Given the description of an element on the screen output the (x, y) to click on. 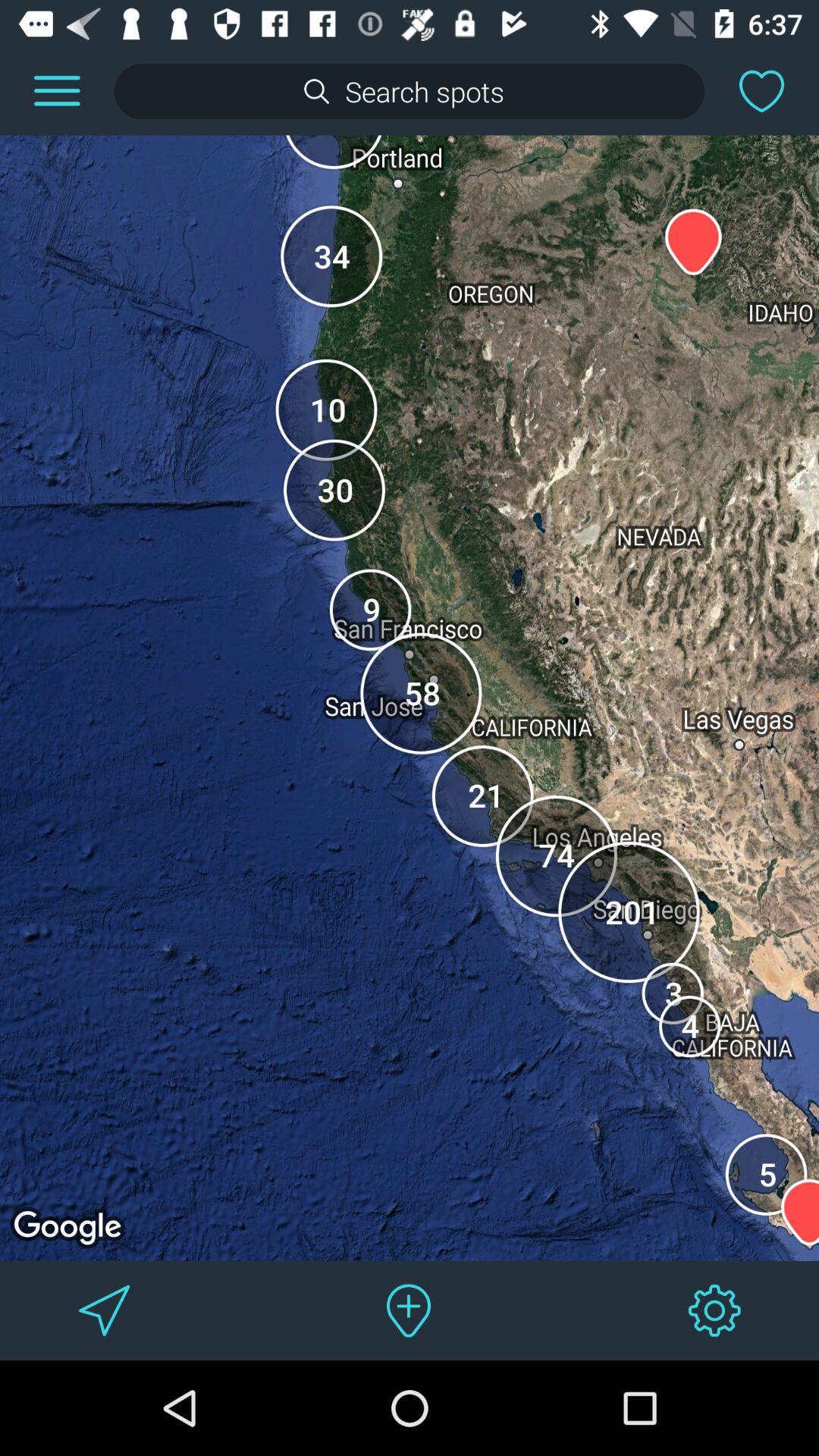
search spots (409, 91)
